Given the description of an element on the screen output the (x, y) to click on. 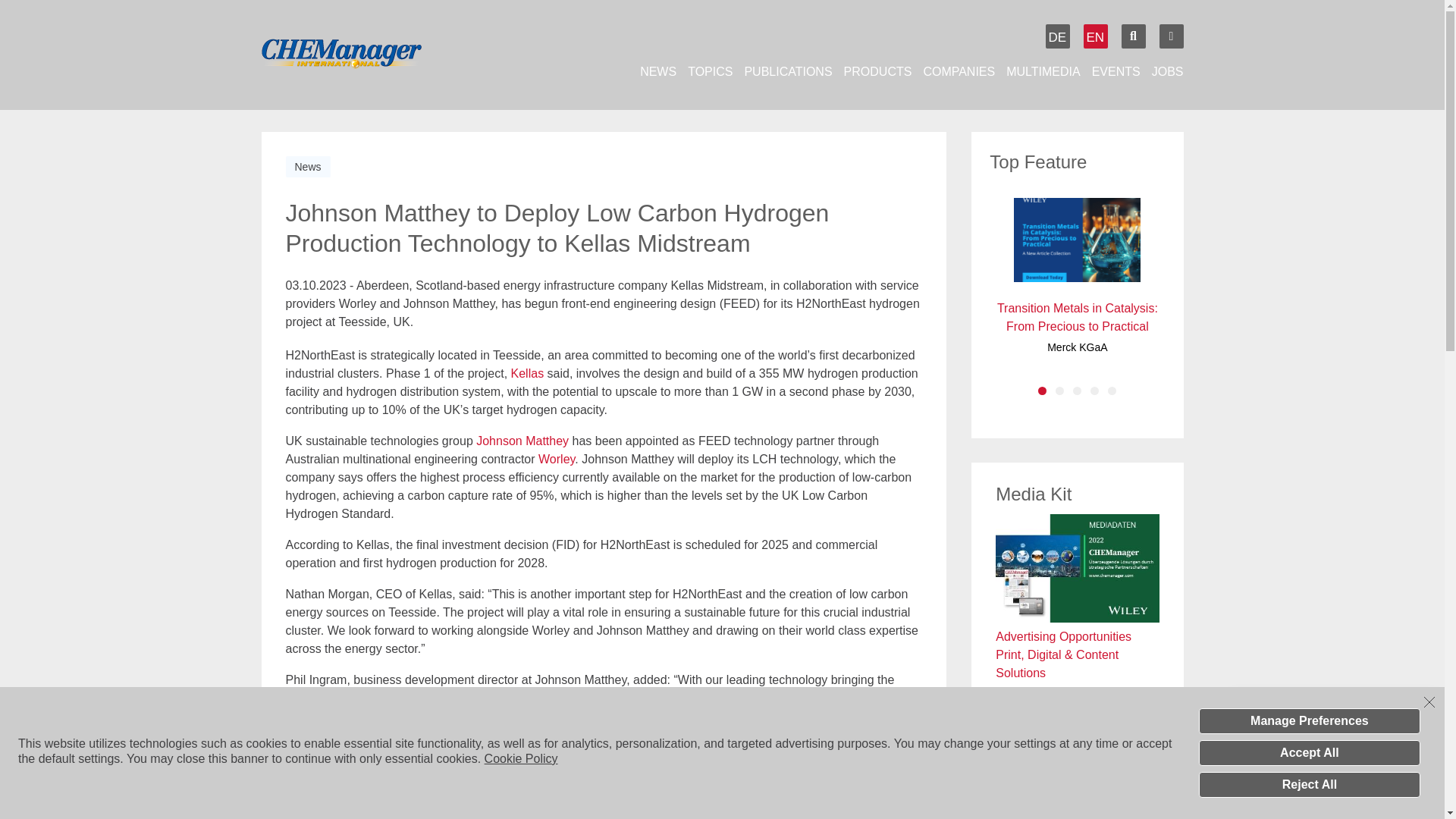
Reject All (1309, 784)
Home (366, 55)
MULTIMEDIA (1043, 71)
Cookie Policy (520, 758)
PUBLICATIONS (787, 71)
TOPICS (709, 71)
NEWS (658, 71)
Accept All (1309, 752)
Manage Preferences (1309, 720)
